Given the description of an element on the screen output the (x, y) to click on. 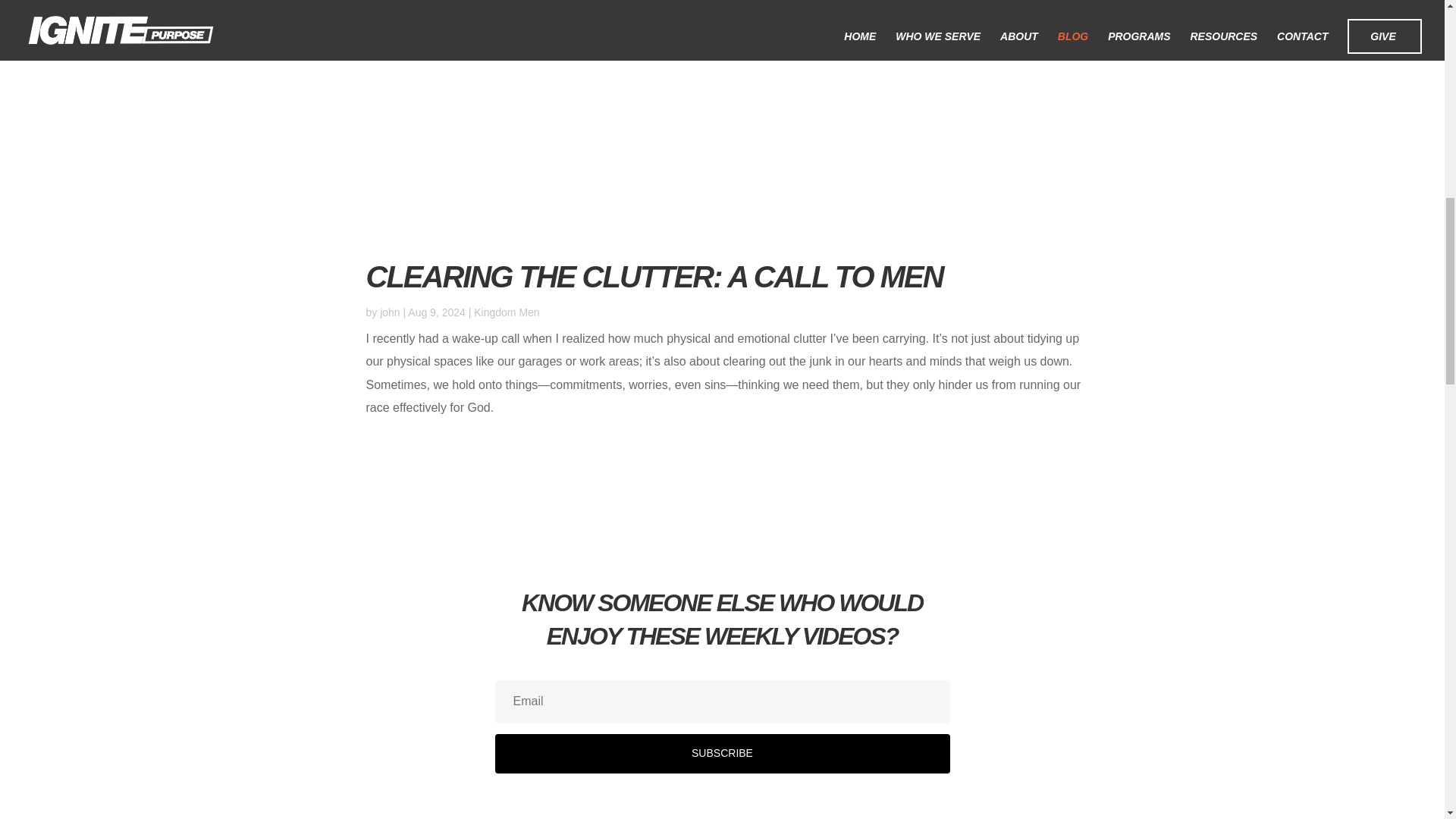
SUBSCRIBE (722, 753)
Kingdom Men (506, 312)
CLEARING THE CLUTTER: A CALL TO MEN (653, 276)
Posts by john (389, 312)
john (389, 312)
